Given the description of an element on the screen output the (x, y) to click on. 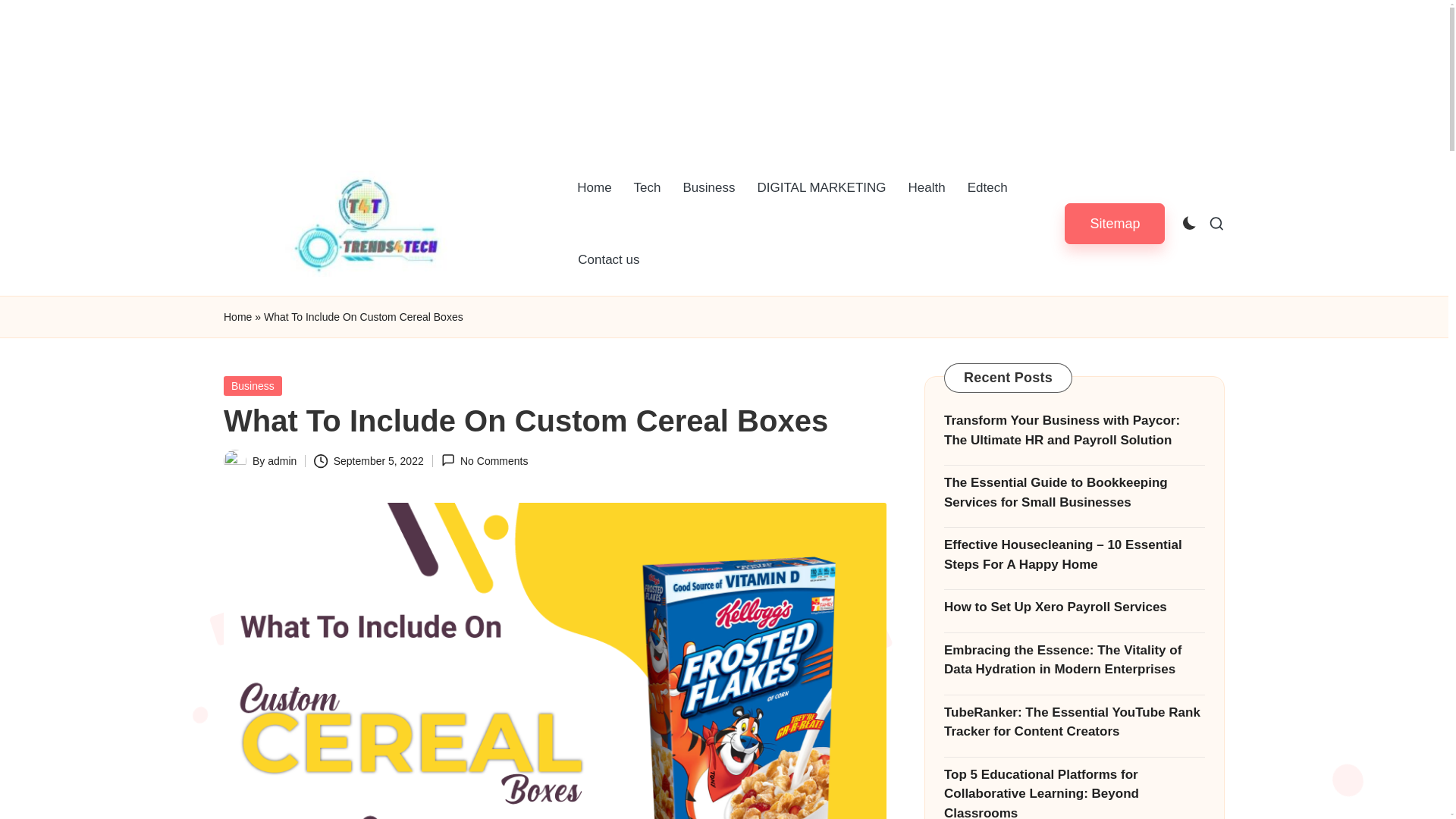
Sitemap (1114, 223)
Health (927, 187)
Business (708, 187)
No Comments (484, 461)
View all posts by admin (282, 460)
Contact us (608, 259)
Home (593, 187)
Edtech (986, 187)
Home (237, 316)
admin (282, 460)
